Given the description of an element on the screen output the (x, y) to click on. 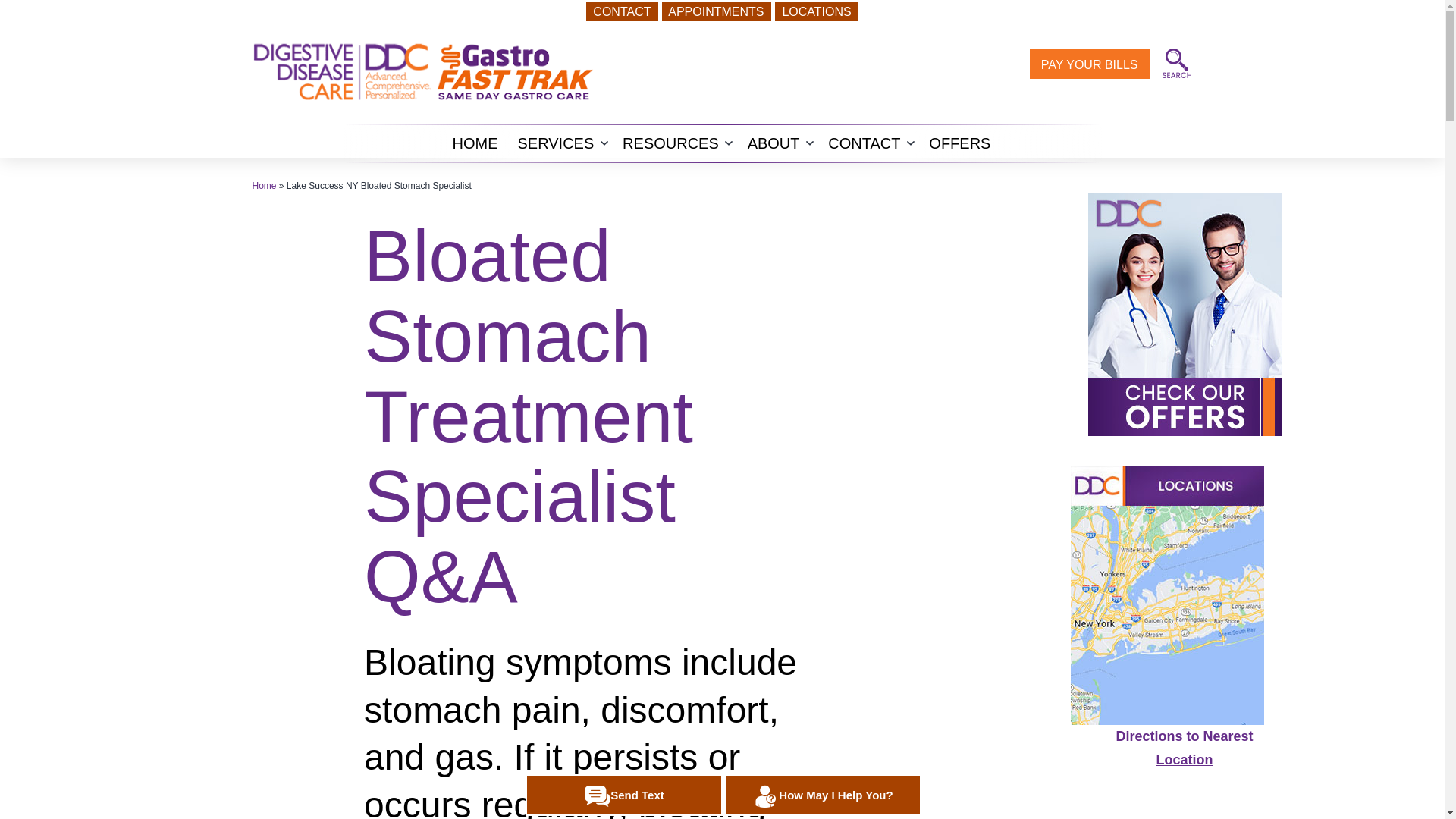
Digestive Disease Care Serving New York Community (1176, 63)
HOME (476, 143)
APPOINTMENTS (716, 11)
SERVICES (556, 143)
PAY YOUR BILLS (1089, 63)
CONTACT (622, 11)
LOCATIONS (816, 11)
